Given the description of an element on the screen output the (x, y) to click on. 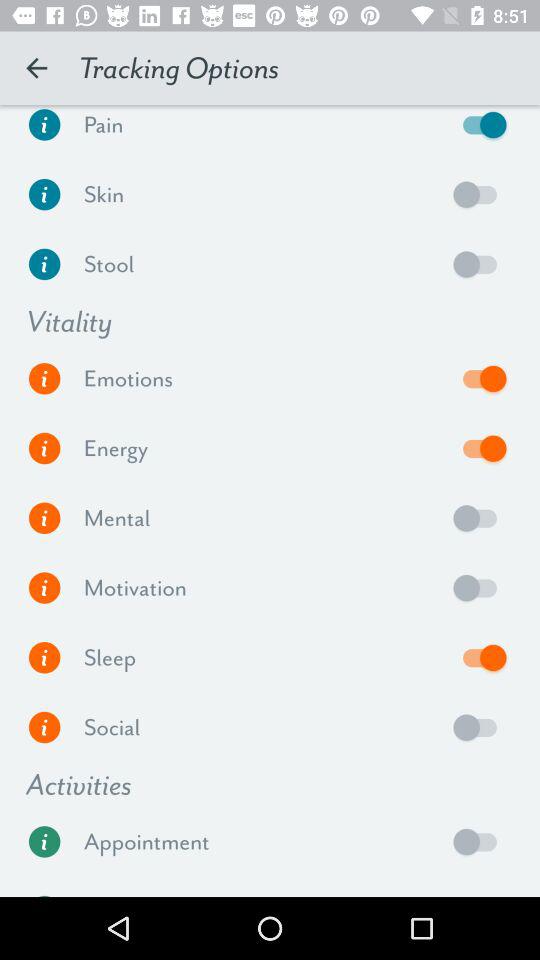
activate stool (479, 264)
